Given the description of an element on the screen output the (x, y) to click on. 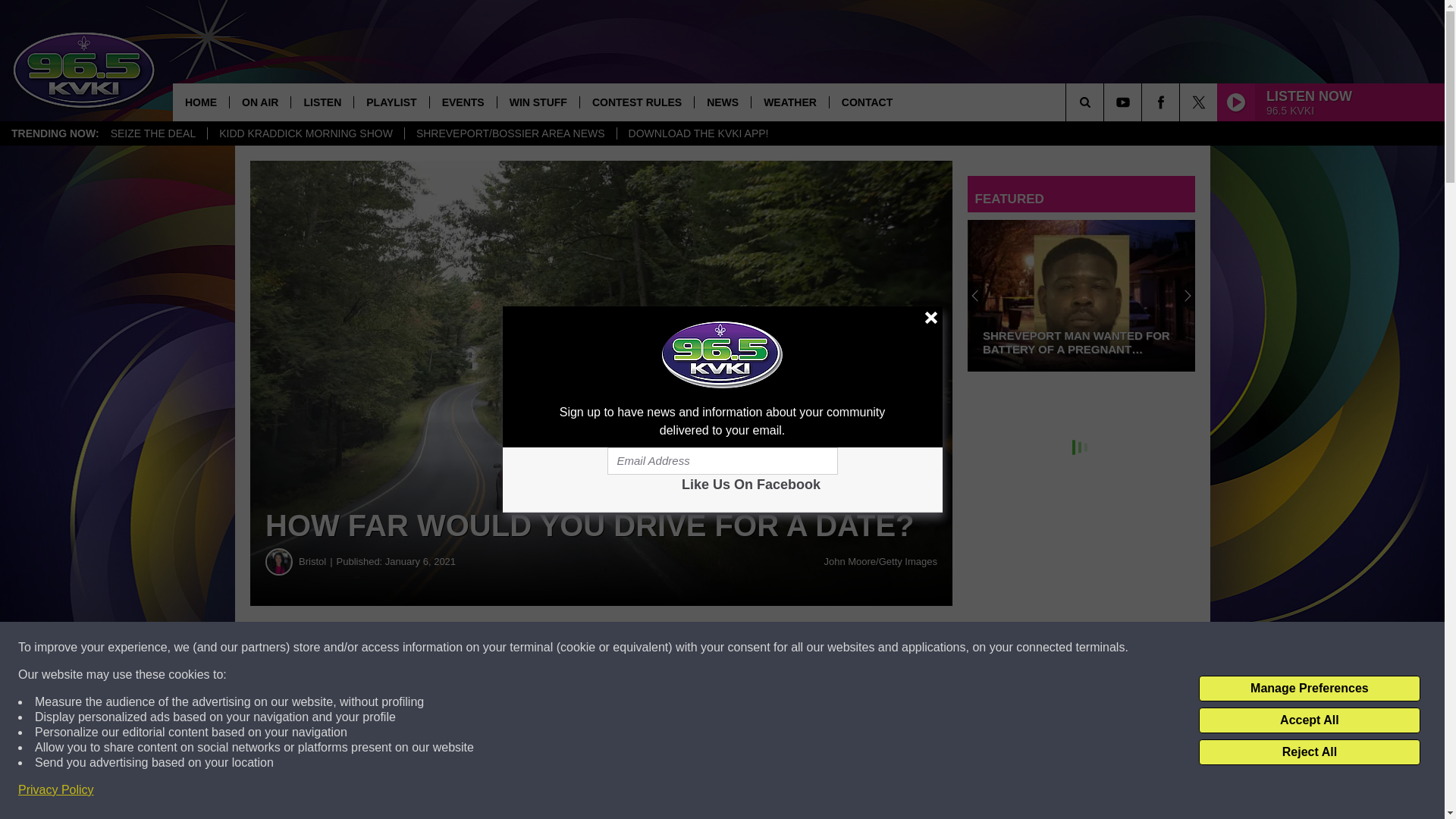
CONTEST RULES (636, 102)
SEARCH (1106, 102)
Share on Twitter (741, 647)
EVENTS (462, 102)
Privacy Policy (55, 789)
HOME (200, 102)
WIN STUFF (537, 102)
PLAYLIST (390, 102)
Share on Facebook (460, 647)
LISTEN (321, 102)
SEARCH (1106, 102)
ON AIR (258, 102)
Manage Preferences (1309, 688)
DOWNLOAD THE KVKI APP! (697, 133)
Email Address (722, 461)
